Given the description of an element on the screen output the (x, y) to click on. 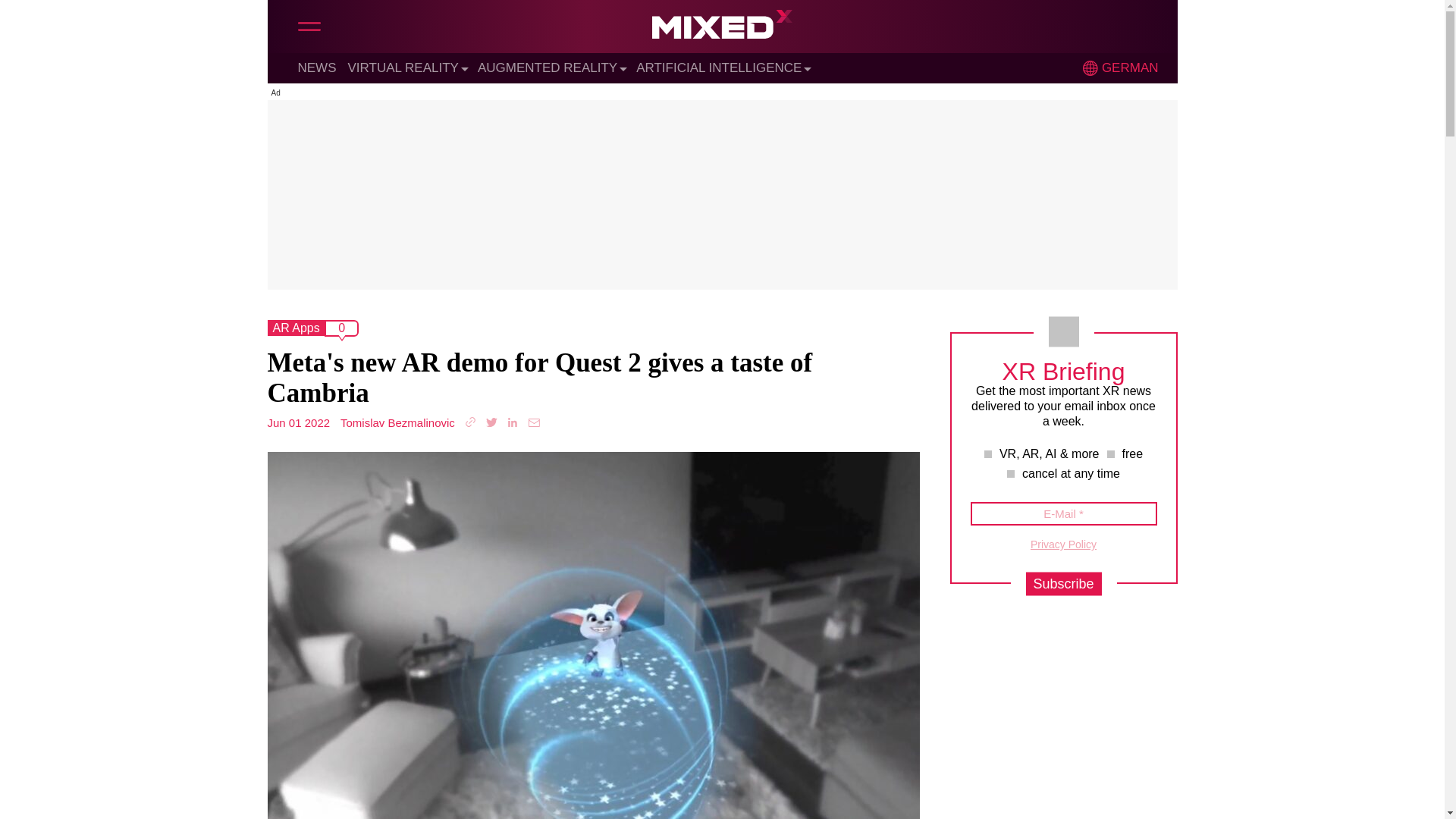
Jun 01 2022 (298, 422)
VIRTUAL REALITY (402, 67)
AUGMENTED REALITY (547, 67)
MIXED Reality News (722, 28)
german (1090, 68)
MIXED Reality News (722, 28)
NEWS (316, 67)
Subscribe (1062, 584)
ARTIFICIAL INTELLIGENCE (719, 67)
